Given the description of an element on the screen output the (x, y) to click on. 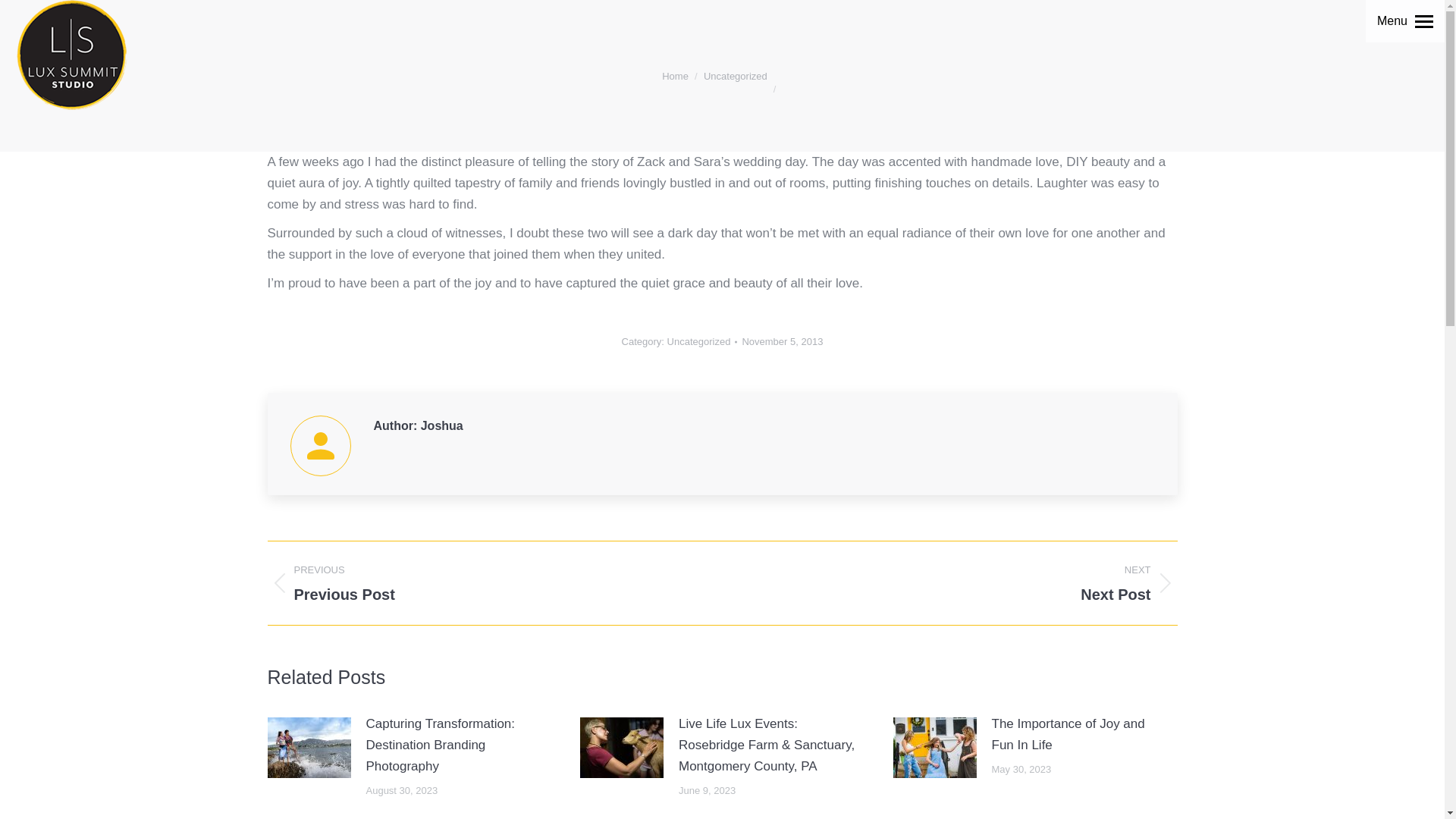
Home (675, 75)
12:21 pm (781, 341)
Uncategorized (735, 75)
Menu (1392, 20)
